Given the description of an element on the screen output the (x, y) to click on. 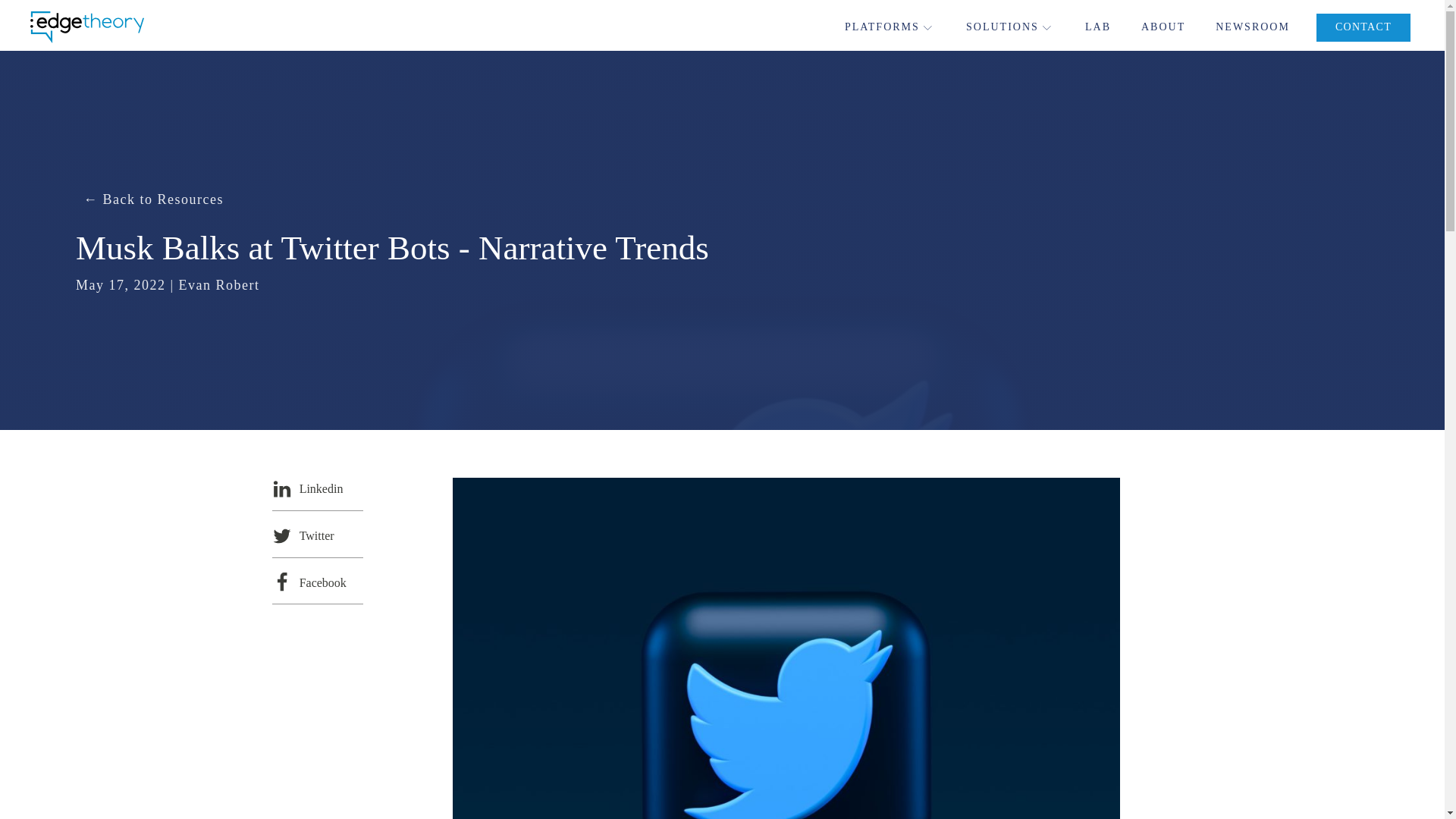
Evan Robert (219, 284)
PLATFORMS (890, 27)
NEWSROOM (1252, 27)
Linkedin (317, 487)
LAB (1097, 27)
ABOUT (1163, 27)
Facebook (317, 581)
SOLUTIONS (1010, 27)
CONTACT (1363, 27)
Twitter (317, 534)
